Given the description of an element on the screen output the (x, y) to click on. 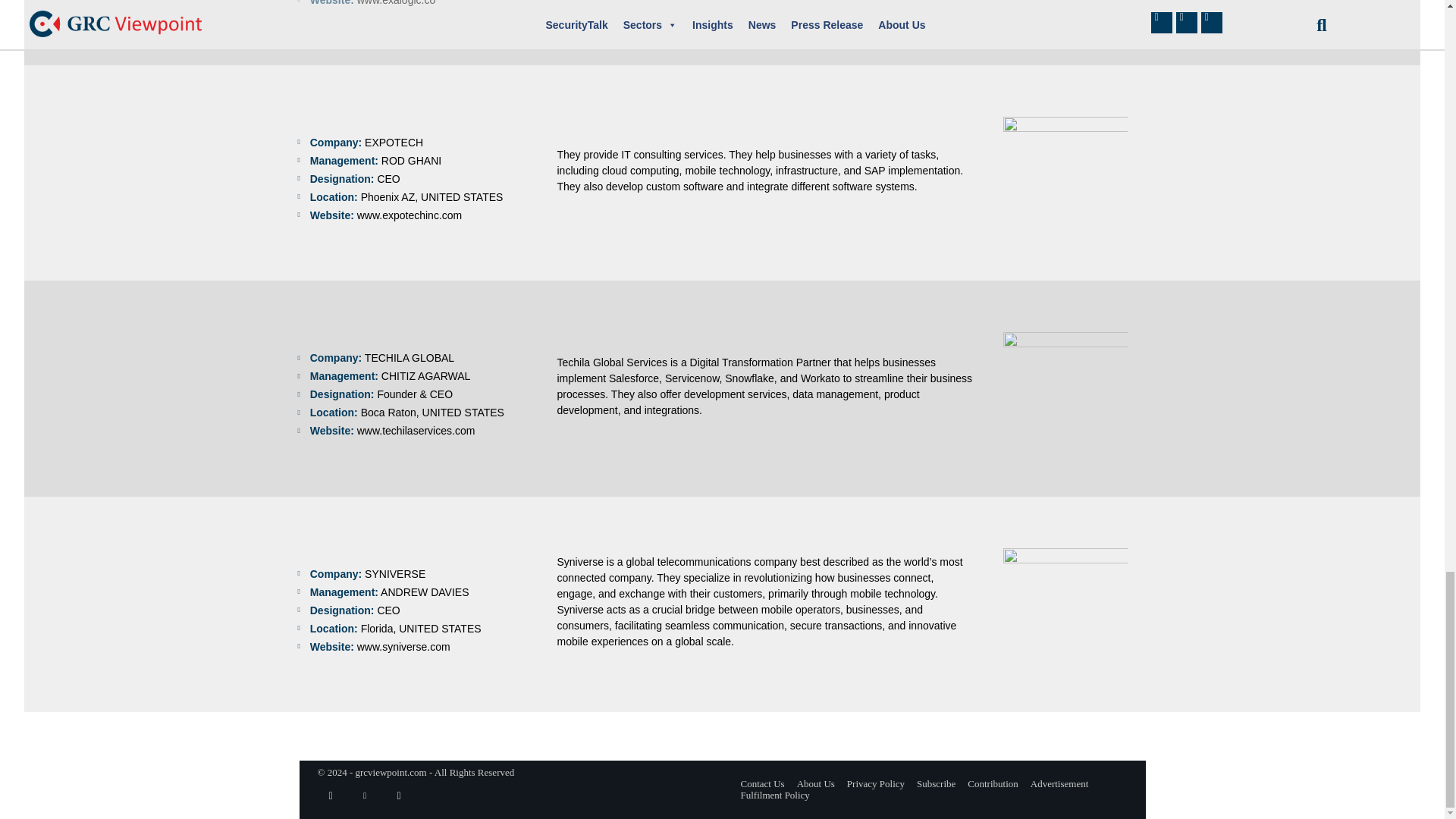
Facebook (330, 795)
Twitter (398, 795)
Linkedin (365, 795)
